Given the description of an element on the screen output the (x, y) to click on. 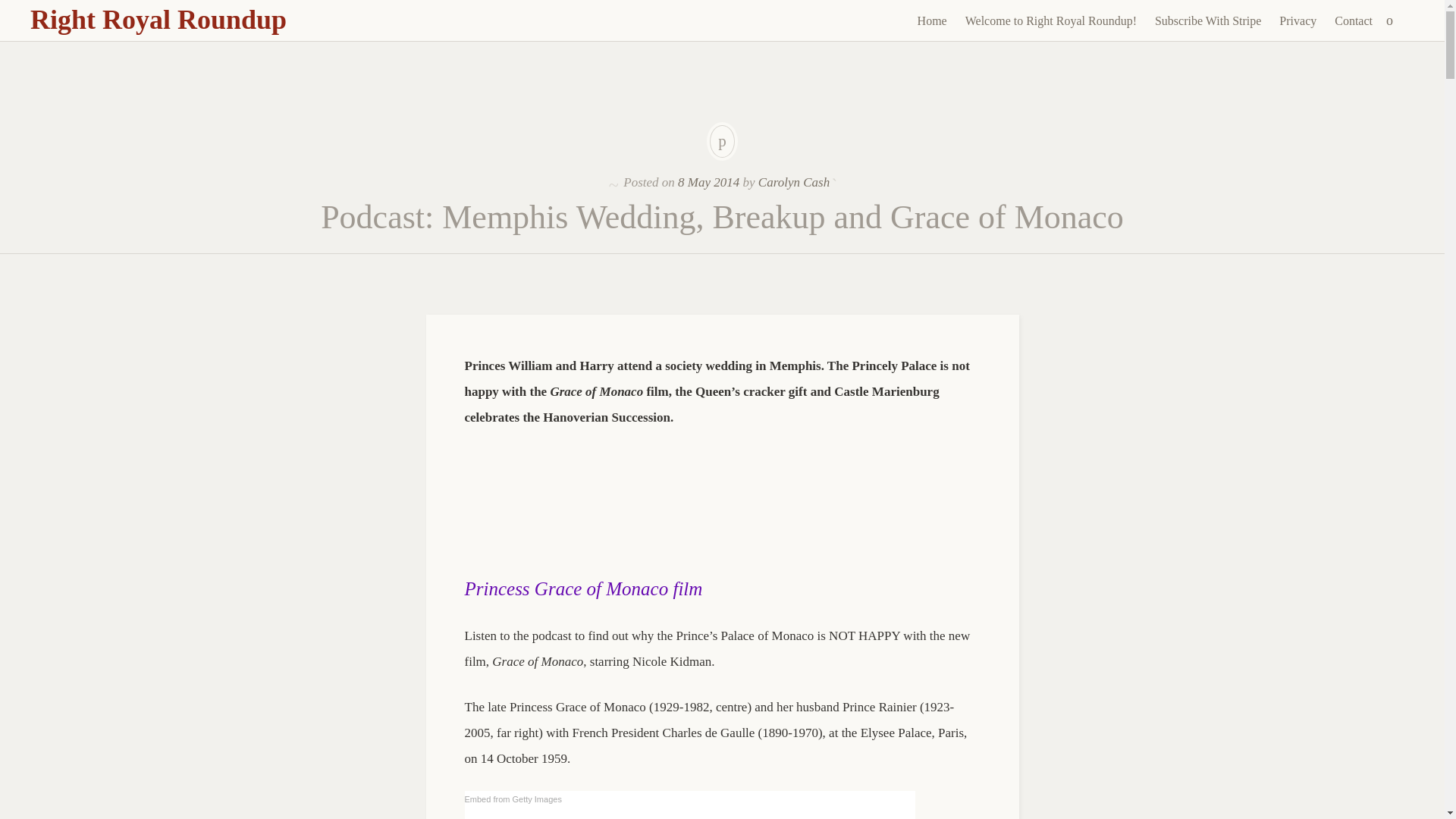
Right Royal Roundup (158, 19)
Search (11, 9)
Contact (1353, 21)
Right Royal Roundup (158, 19)
Subscribe With Stripe (1207, 21)
Carolyn Cash (793, 181)
Home (932, 21)
8 May 2014 (708, 181)
Embed from Getty Images (512, 799)
Privacy (1297, 21)
